Given the description of an element on the screen output the (x, y) to click on. 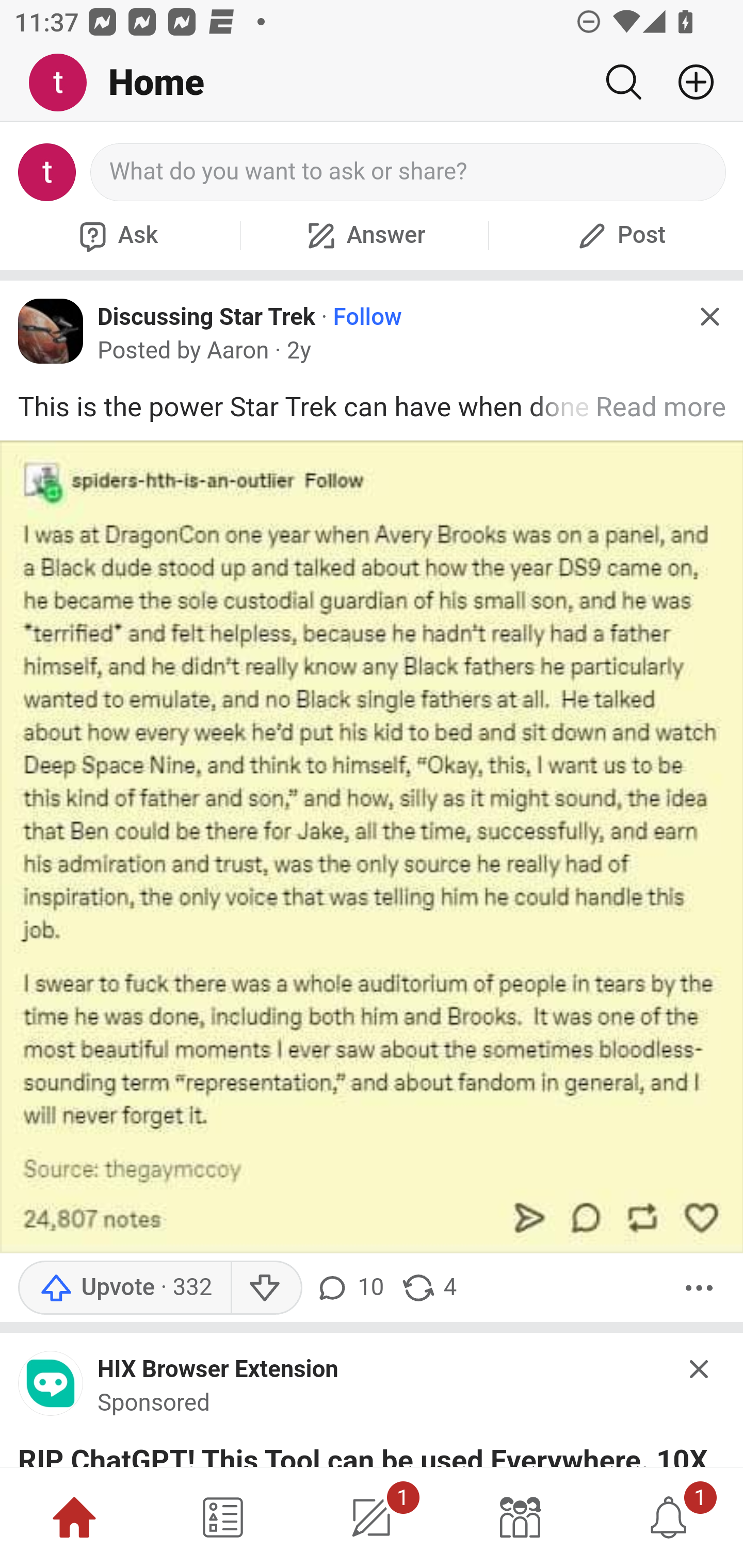
Me (64, 83)
Search (623, 82)
Add (688, 82)
What do you want to ask or share? (408, 172)
Ask (116, 234)
Answer (364, 234)
Post (618, 234)
Hide (709, 316)
Icon for Discussing Star Trek (50, 330)
Discussing Star Trek (206, 315)
Follow (367, 316)
Upvote (124, 1288)
Downvote (266, 1288)
10 comments (352, 1288)
4 shares (428, 1288)
More (699, 1288)
Hide (699, 1368)
main-qimg-a26aff9df7f072be8b0645a7a8a9dc4b (50, 1388)
HIX Browser Extension (218, 1370)
1 (371, 1517)
1 (668, 1517)
